Given the description of an element on the screen output the (x, y) to click on. 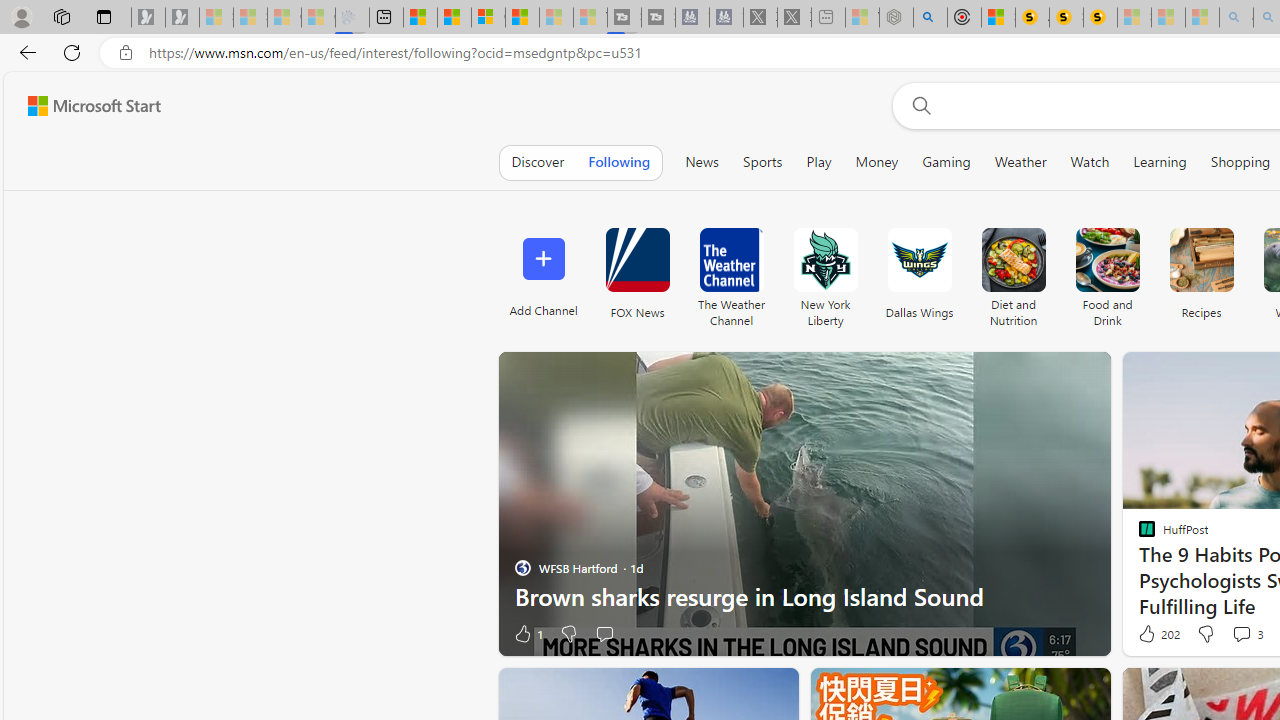
New York Liberty (824, 272)
The Weather Channel (731, 260)
Food and Drink (1107, 272)
Watch (1089, 161)
Streaming Coverage | T3 - Sleeping (624, 17)
See more (774, 691)
Sports (762, 161)
Shopping (1240, 161)
Money (877, 162)
Watch (1090, 162)
Diet and Nutrition (1012, 260)
Web search (917, 105)
